Given the description of an element on the screen output the (x, y) to click on. 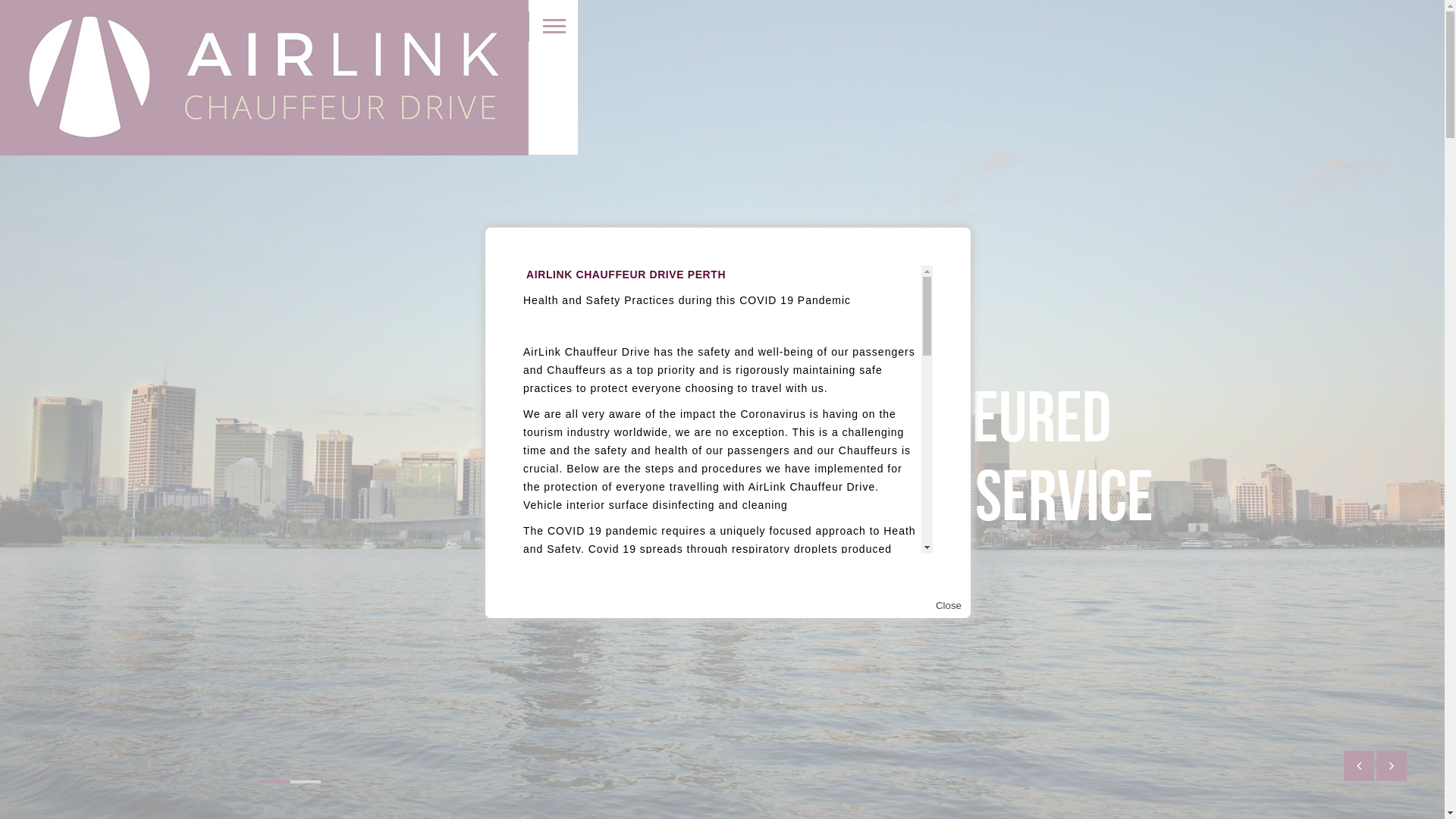
Close Element type: text (948, 605)
